Given the description of an element on the screen output the (x, y) to click on. 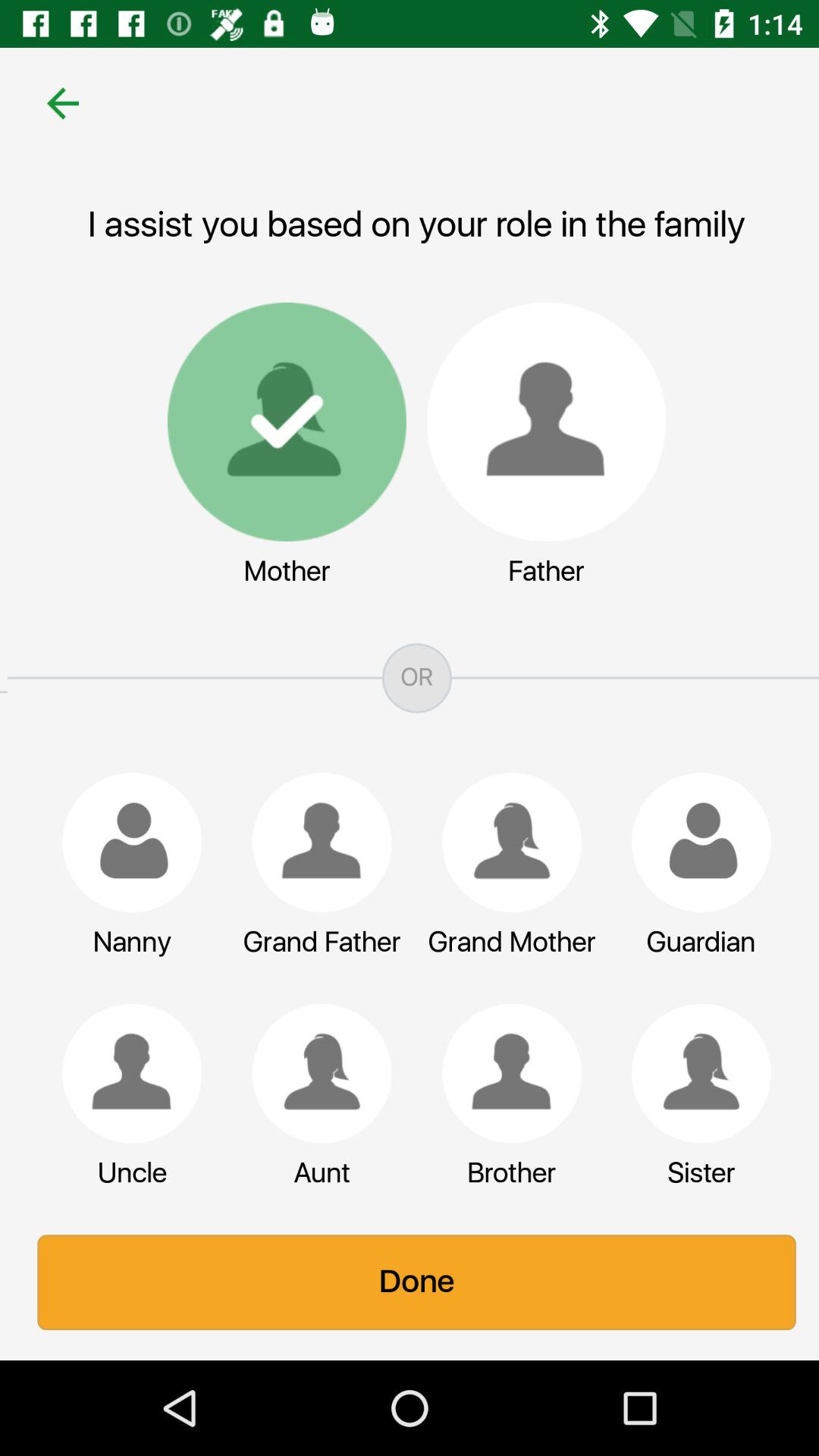
make a selection (314, 842)
